Given the description of an element on the screen output the (x, y) to click on. 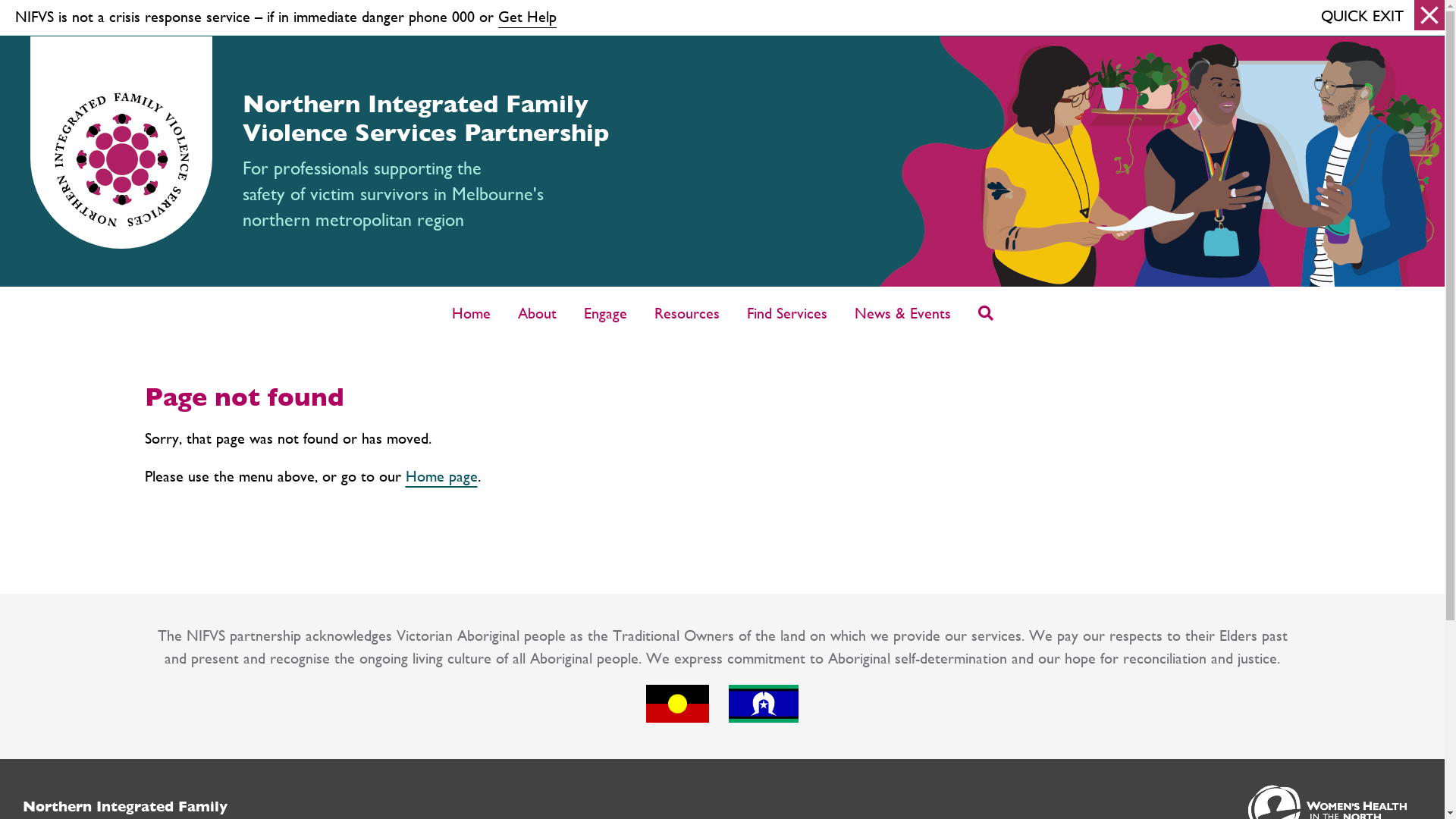
About Element type: text (536, 313)
Home page Element type: text (440, 475)
News & Events Element type: text (902, 313)
Home Element type: text (470, 313)
Find Services Element type: text (786, 313)
Engage Element type: text (604, 313)
Get Help Element type: text (527, 16)
Resources Element type: text (687, 313)
